Given the description of an element on the screen output the (x, y) to click on. 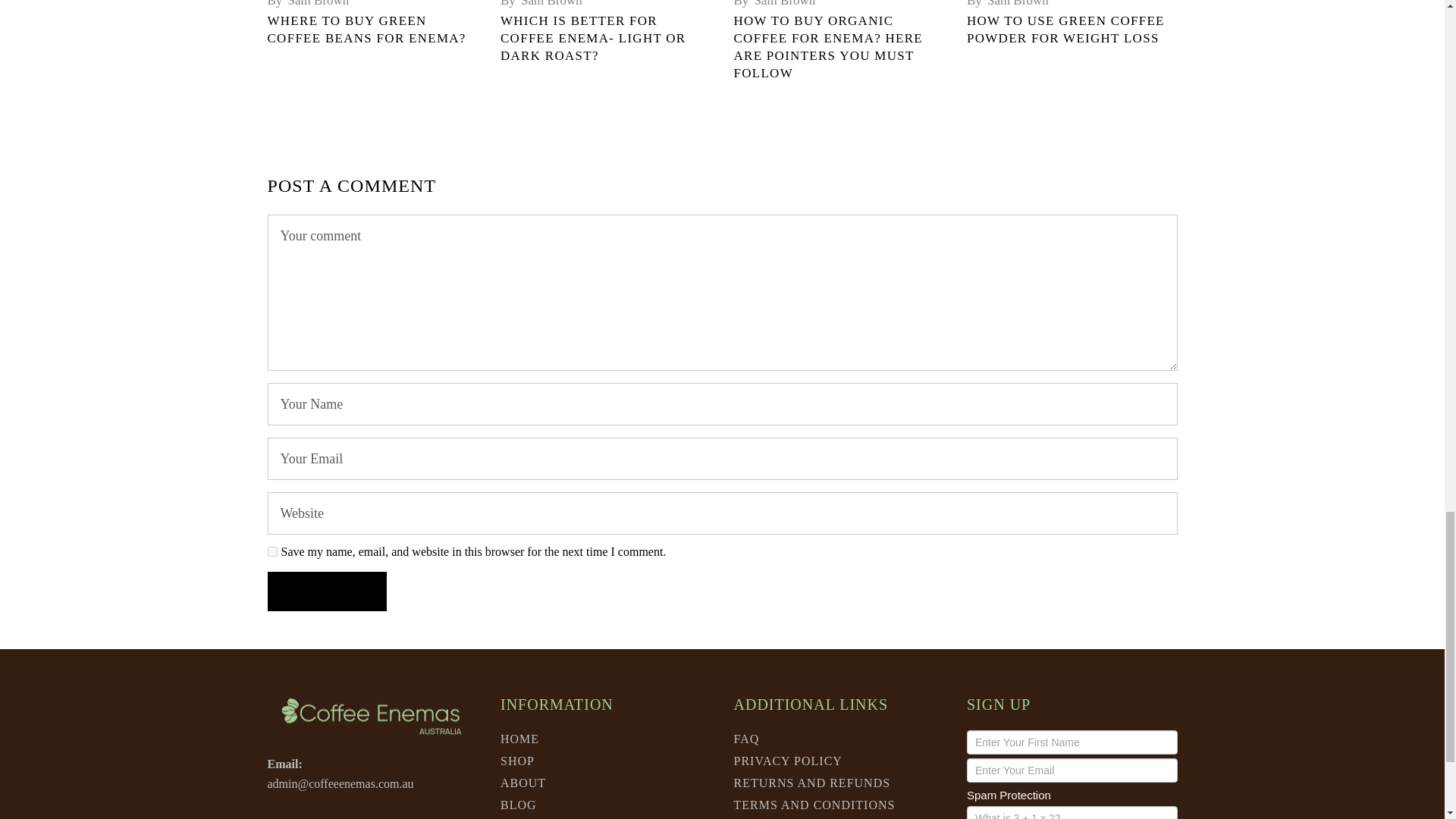
How to Use Green Coffee Powder for Weight Loss (1065, 29)
Where to Buy Green Coffee Beans for Enema? (365, 29)
yes (271, 551)
Which is Better for Coffee Enema- Light or Dark Roast? (592, 38)
